Given the description of an element on the screen output the (x, y) to click on. 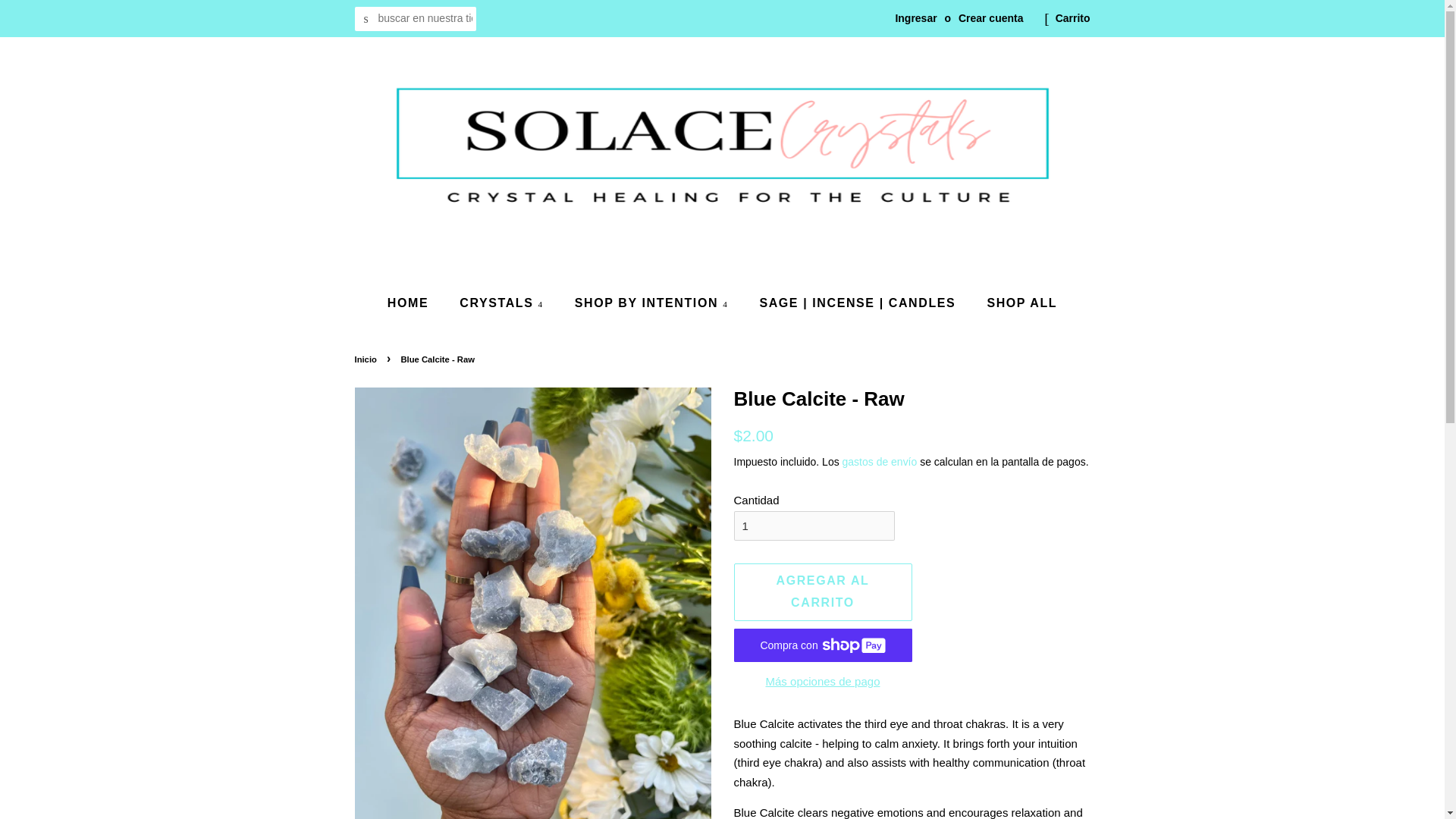
Crear cuenta (990, 18)
HOME (415, 302)
Ingresar (915, 18)
BUSCAR (366, 18)
CRYSTALS (503, 302)
SHOP BY INTENTION (653, 302)
Carrito (1072, 18)
1 (814, 525)
Volver a la portada (367, 358)
